Given the description of an element on the screen output the (x, y) to click on. 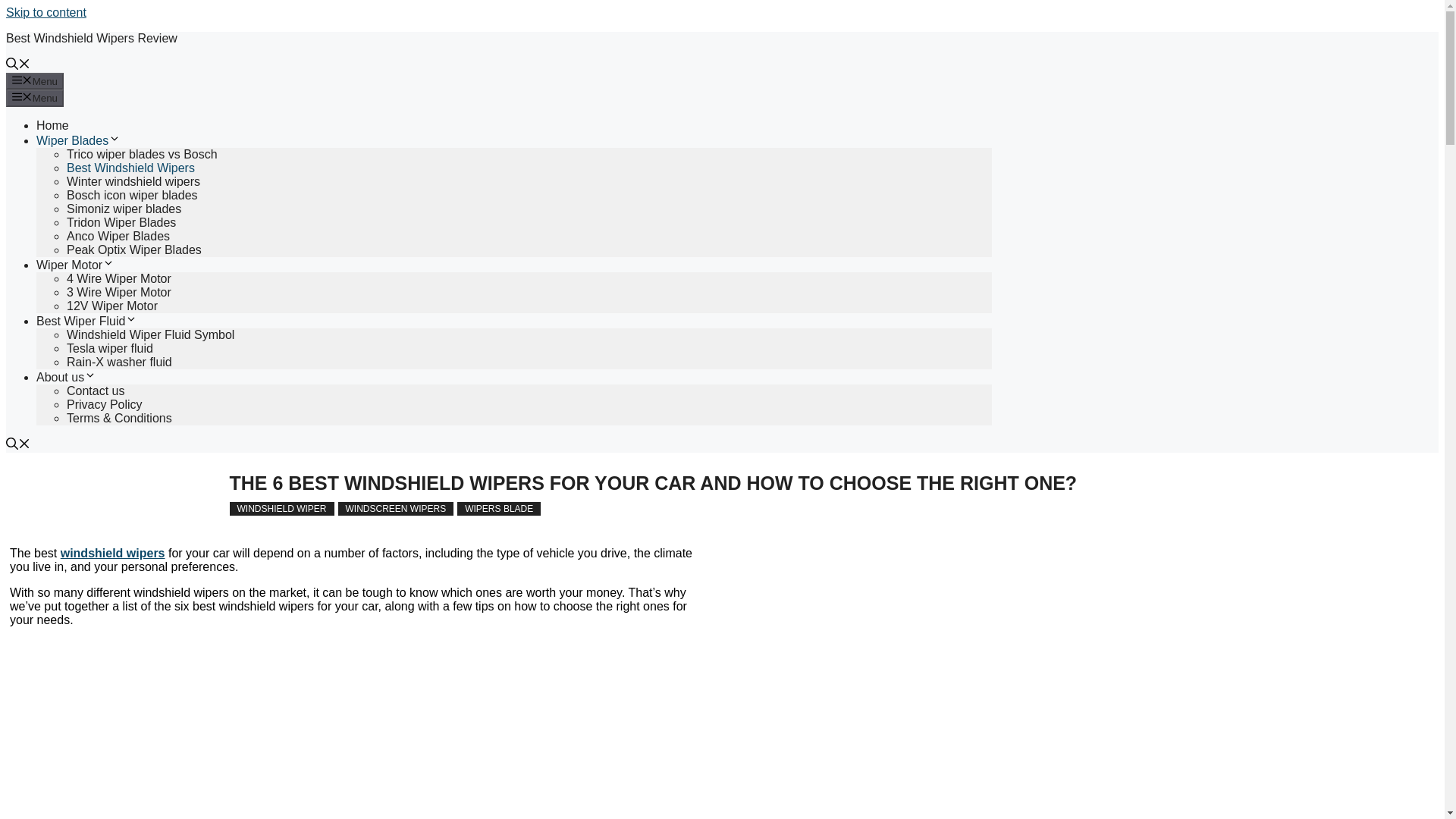
12V Wiper Motor (111, 305)
Winter windshield wipers (133, 181)
Skip to content (45, 11)
Skip to content (45, 11)
Tridon Wiper Blades (121, 222)
Best Windshield Wipers (130, 167)
Peak Optix Wiper Blades (134, 249)
3 Wire Wiper Motor (118, 291)
Tesla wiper fluid (109, 348)
windshield wipers (113, 553)
